Given the description of an element on the screen output the (x, y) to click on. 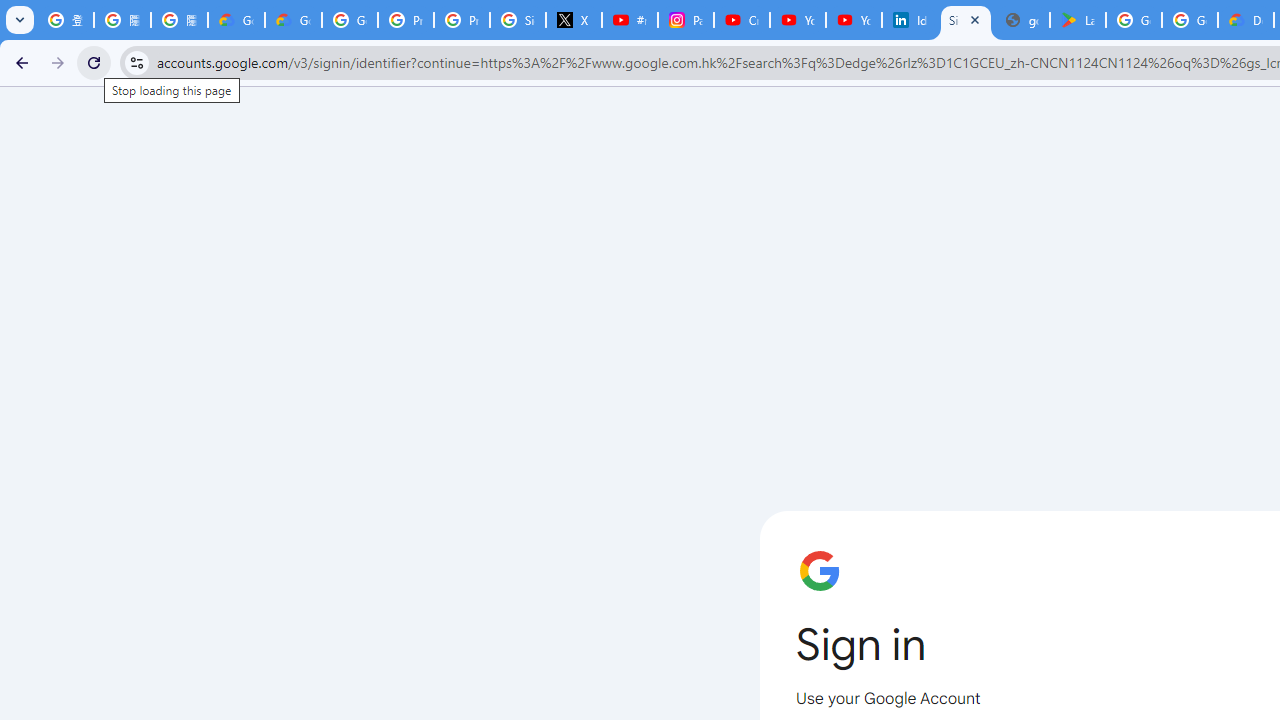
Privacy Help Center - Policies Help (405, 20)
Google Cloud Privacy Notice (235, 20)
#nbabasketballhighlights - YouTube (629, 20)
